Given the description of an element on the screen output the (x, y) to click on. 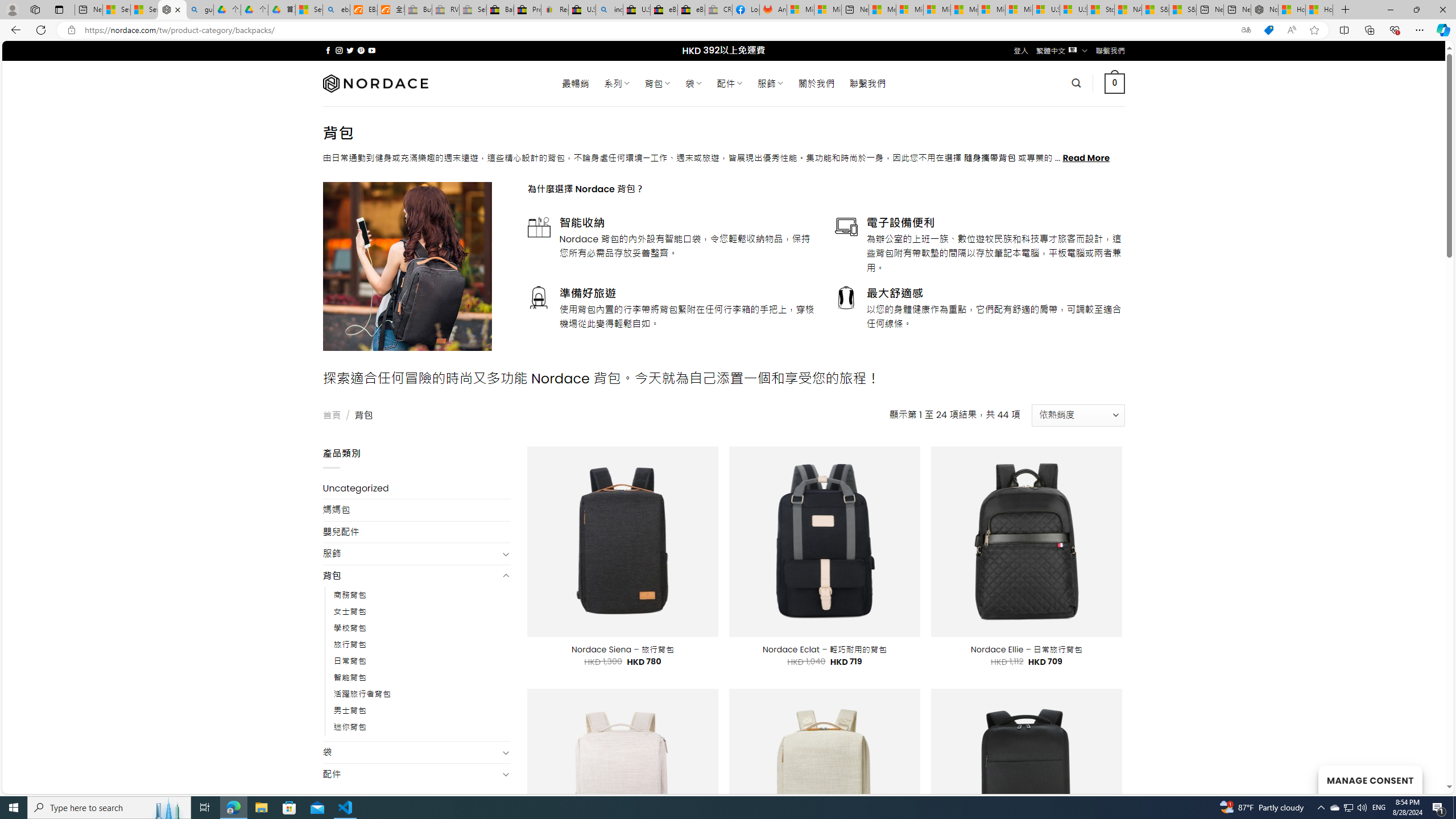
Show translate options (1245, 29)
 0  (1115, 83)
